Given the description of an element on the screen output the (x, y) to click on. 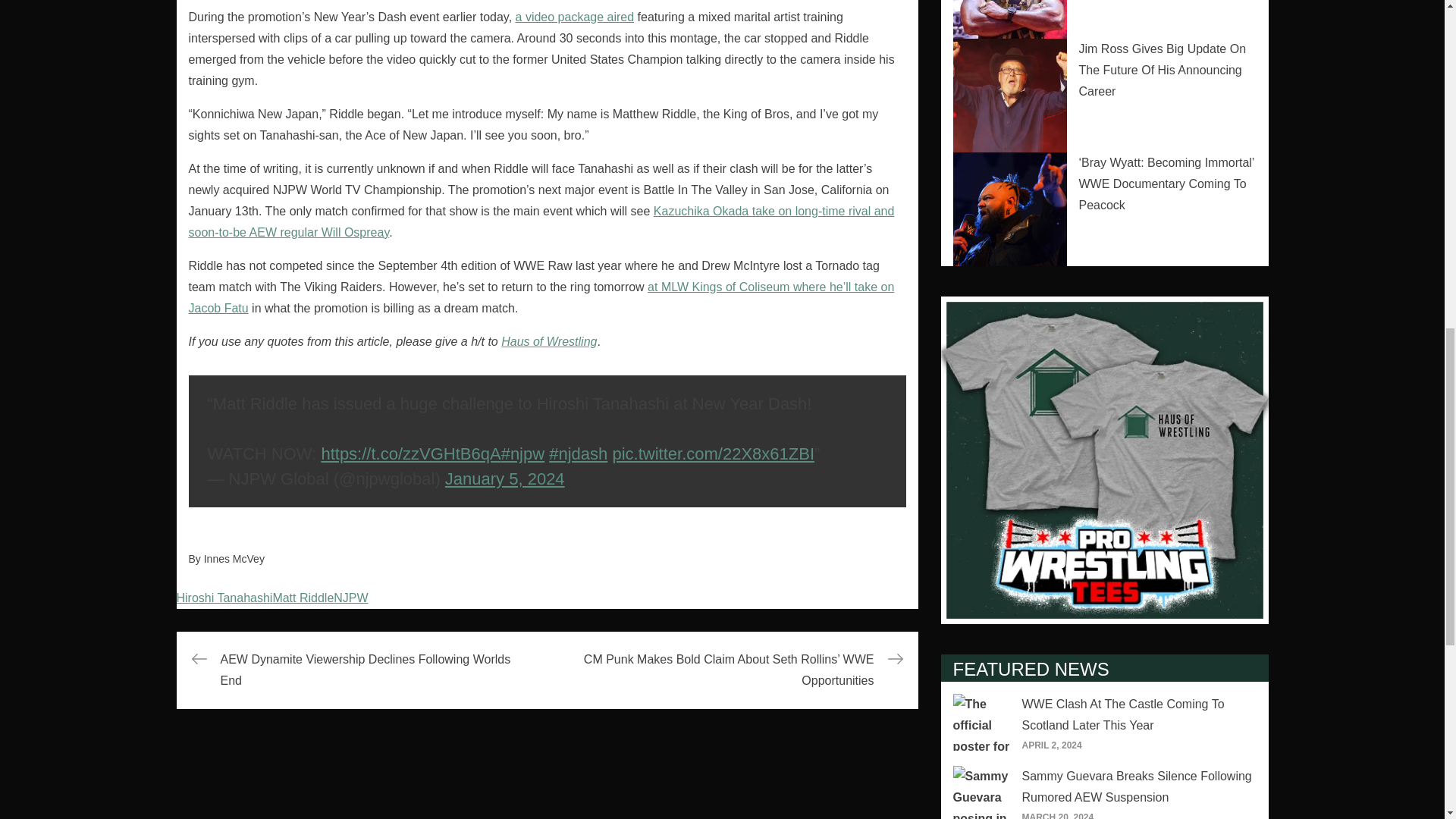
a video package aired (574, 16)
Hiroshi Tanahashi (224, 597)
WWE Clash At The Castle Coming To Scotland Later This Year (1123, 714)
Matt Riddle (302, 597)
NJPW (350, 597)
January 5, 2024 (504, 478)
Innes McVey (233, 558)
Haus of Wrestling (548, 341)
